Given the description of an element on the screen output the (x, y) to click on. 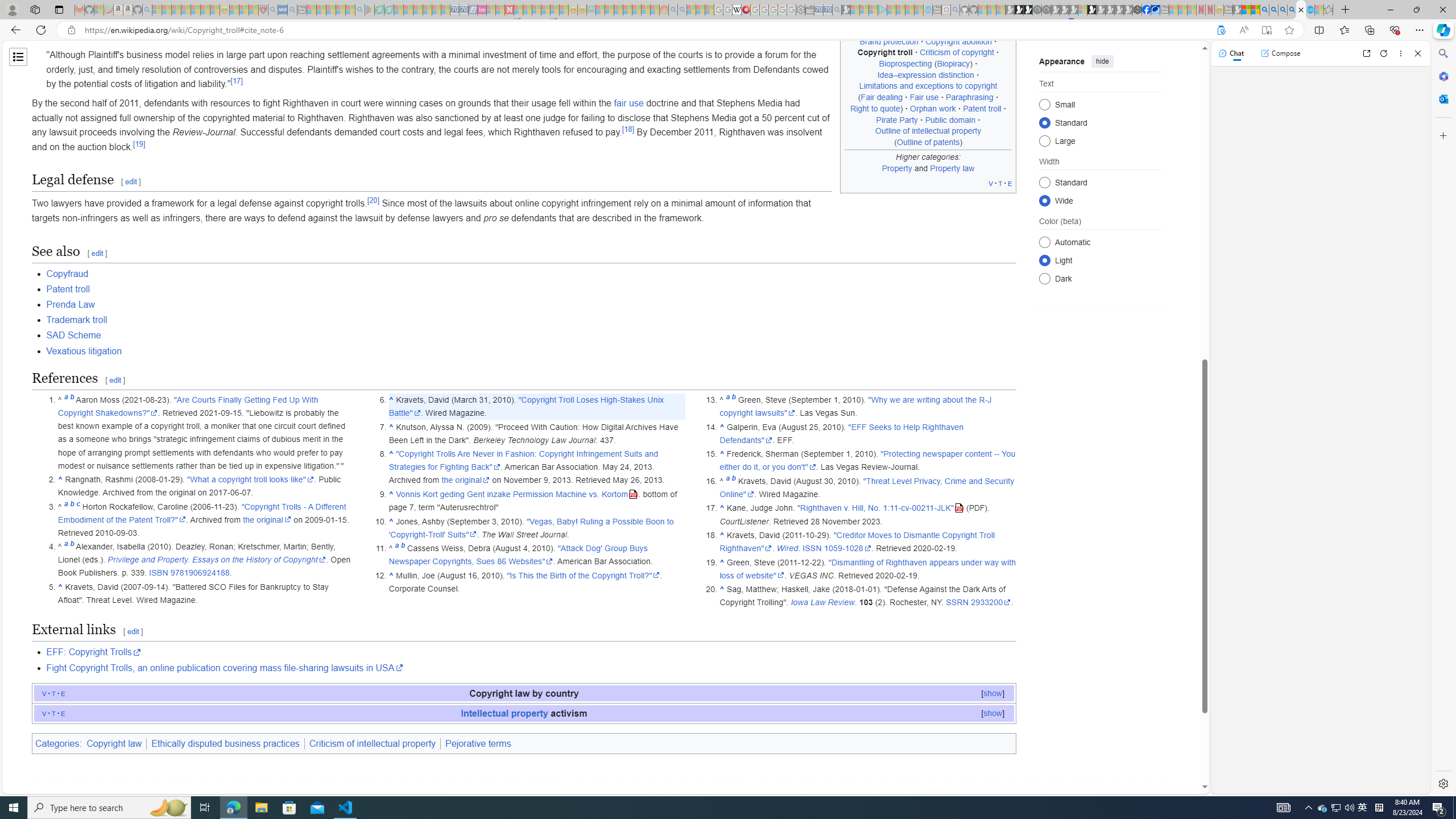
"Righthaven v. Hill, No. 1:11-cv-00211-JLK" (879, 507)
Terms of Use Agreement - Sleeping (378, 9)
Support Wikipedia? (1220, 29)
Biopiracy (952, 63)
Split screen (1318, 29)
9781906924188 (200, 573)
Settings and more (Alt+F) (1419, 29)
